Given the description of an element on the screen output the (x, y) to click on. 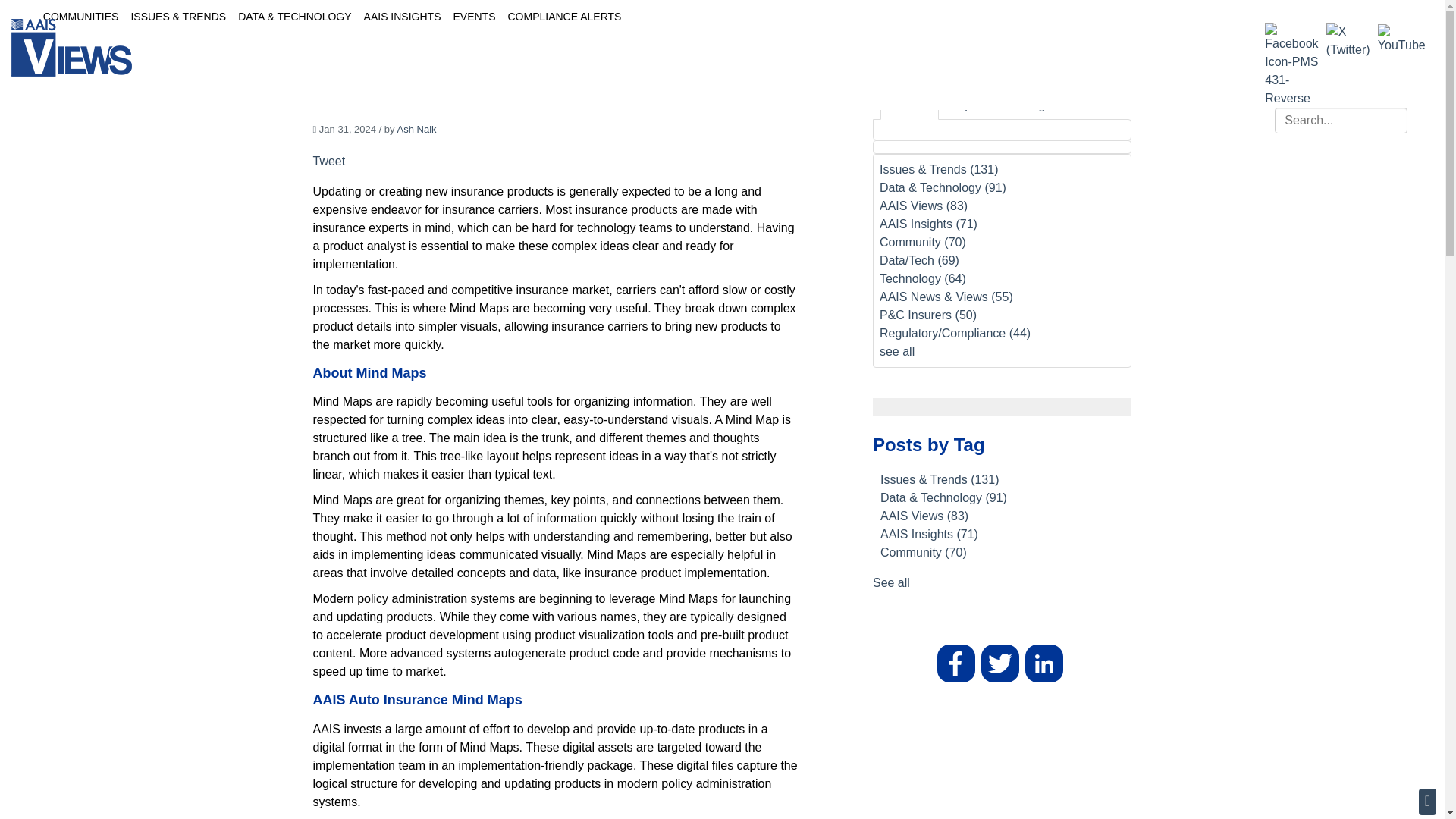
Unleashing Product Potential...Together (985, 51)
American Association of Insurance Services (71, 47)
COMMUNITIES (81, 17)
COMPLIANCE ALERTS (564, 17)
EVENTS (473, 17)
AAIS INSIGHTS (402, 17)
YouTube (1401, 39)
